Given the description of an element on the screen output the (x, y) to click on. 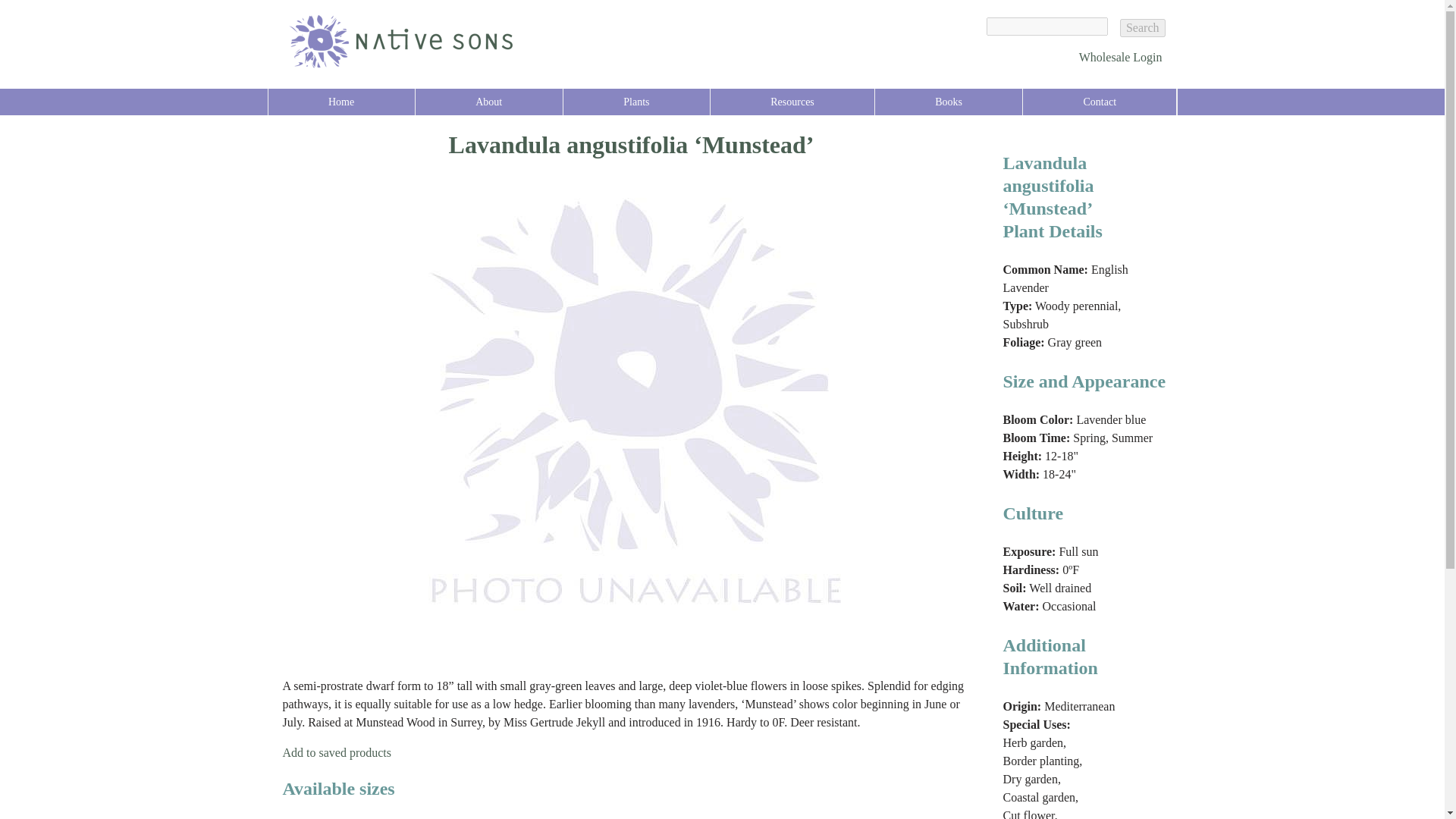
About (488, 101)
Wholesale Login (1119, 56)
Home (340, 101)
Search (1142, 27)
Add this selection to saved products. (336, 752)
Search (1142, 27)
Books (948, 101)
Add to saved products (336, 752)
